Given the description of an element on the screen output the (x, y) to click on. 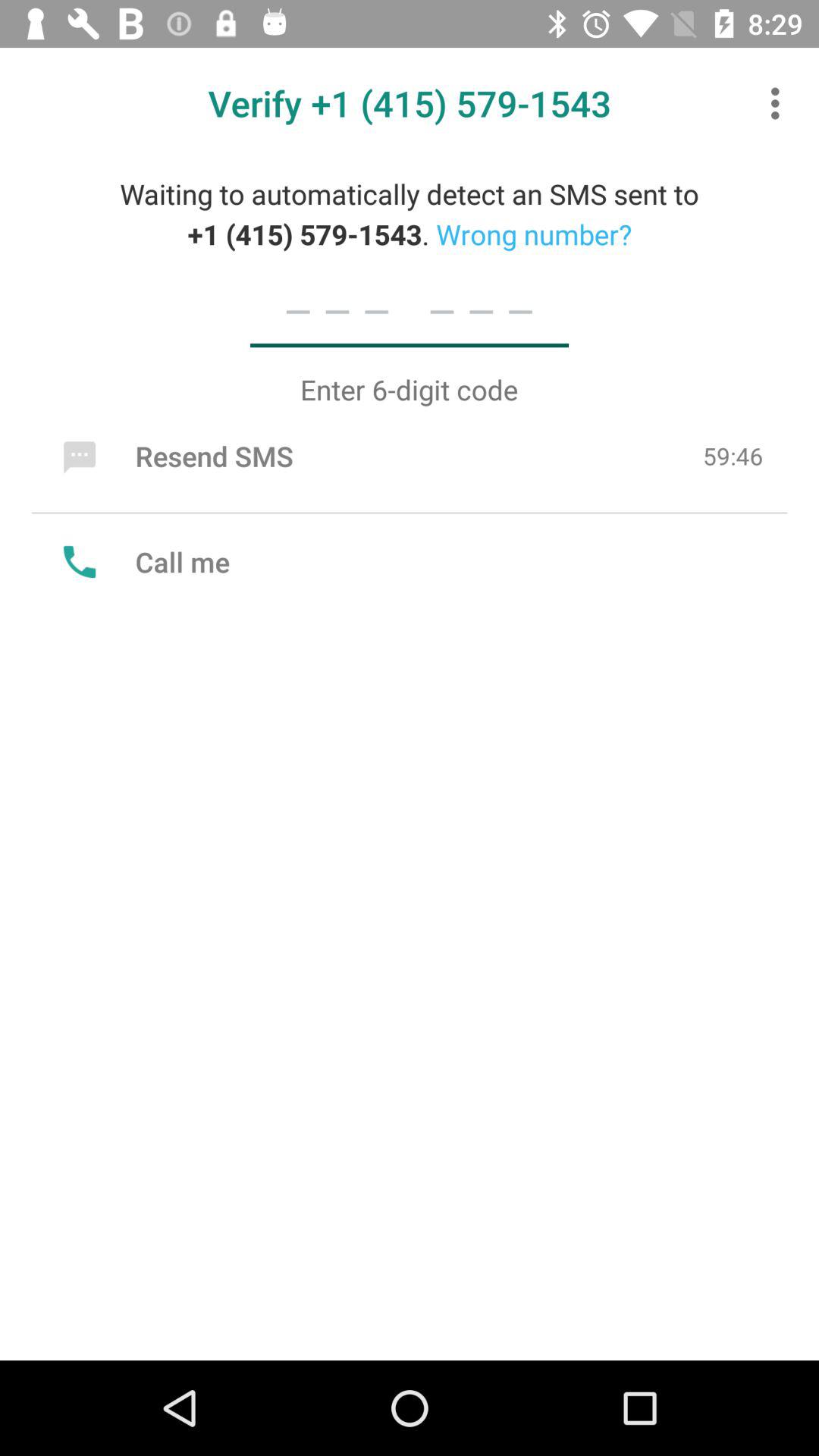
select the item at the top left corner (174, 455)
